Given the description of an element on the screen output the (x, y) to click on. 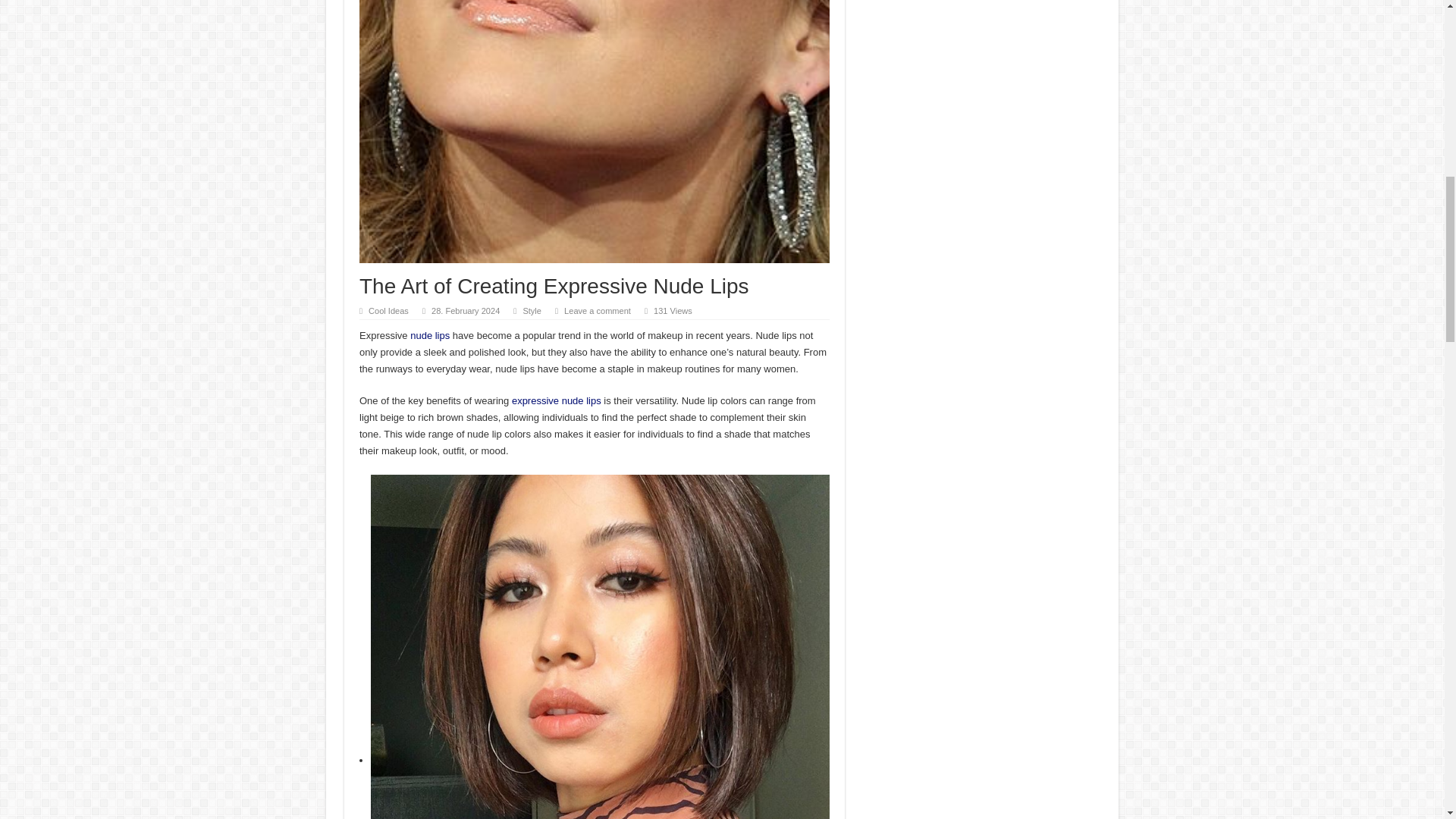
Style (531, 310)
The Art of Creating Expressive Nude Lips (594, 131)
Expressive Nude Lips (429, 335)
expressive nude lips (556, 400)
Cool Ideas (388, 310)
Expressive Nude Lips (556, 400)
Leave a comment (597, 310)
nude lips (429, 335)
